Given the description of an element on the screen output the (x, y) to click on. 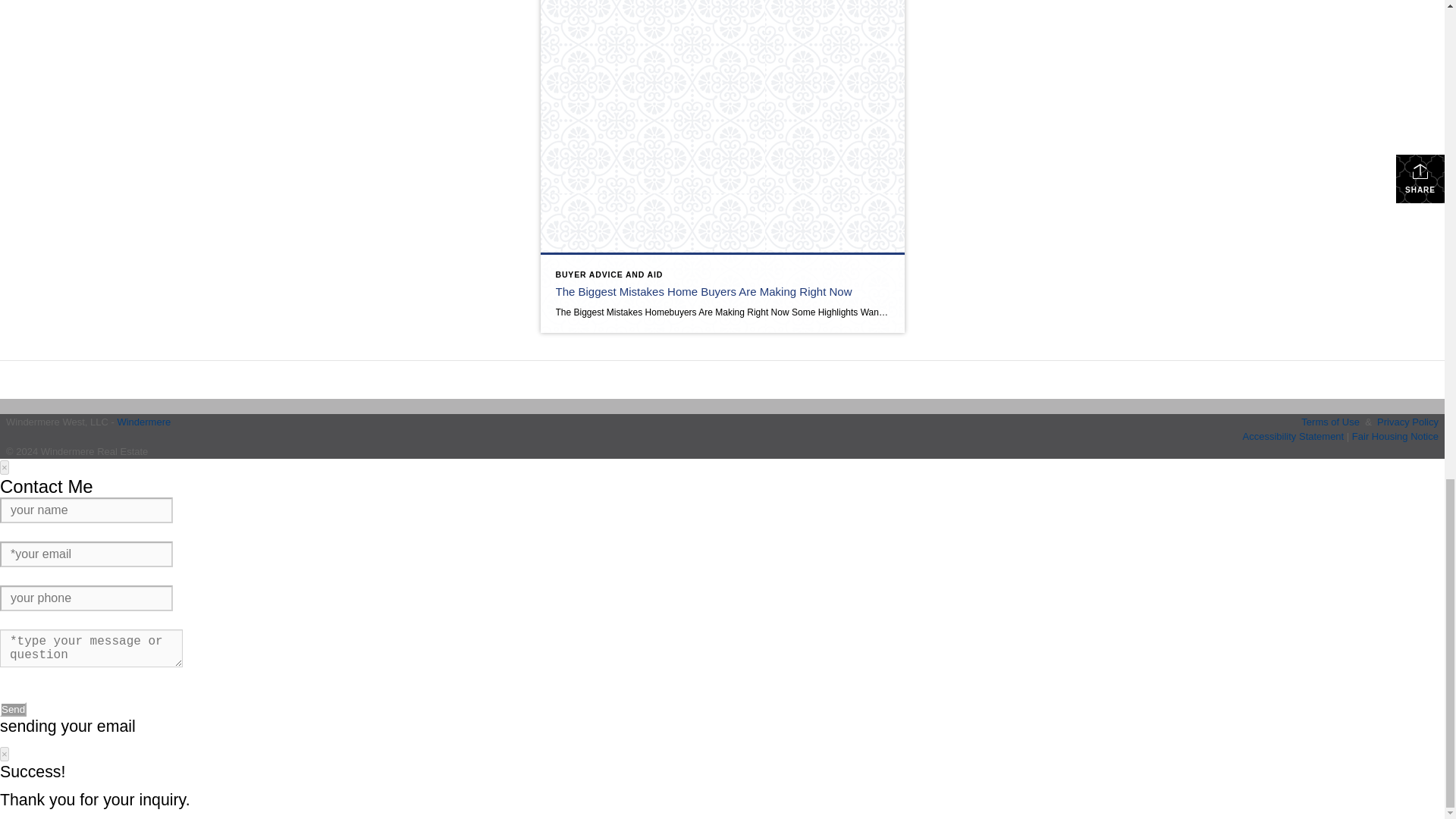
Windermere (143, 420)
